Given the description of an element on the screen output the (x, y) to click on. 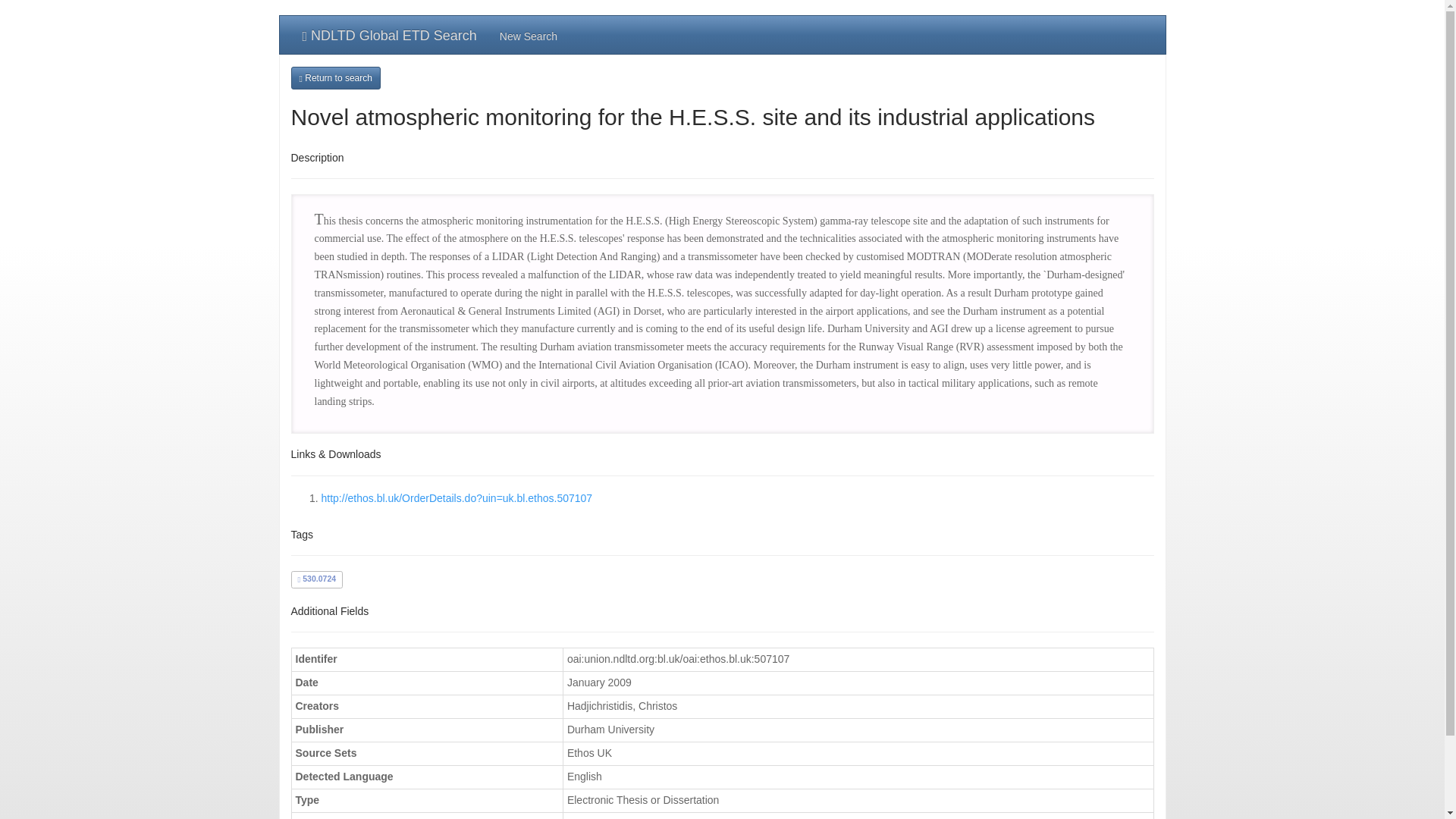
530.0724 (316, 578)
NDLTD Global ETD Search (389, 34)
Return to search (335, 77)
New Search (528, 34)
